Given the description of an element on the screen output the (x, y) to click on. 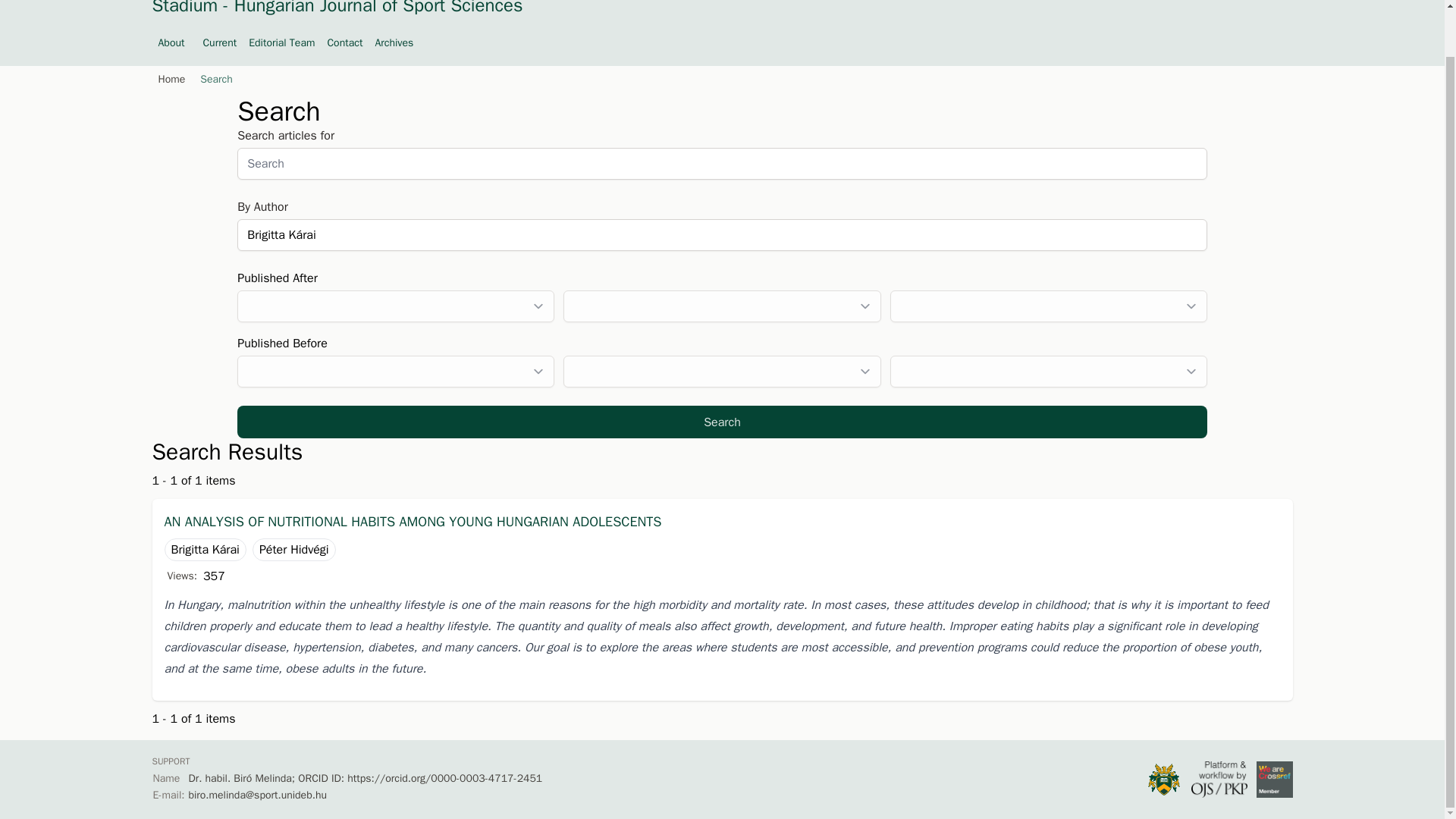
Home (167, 79)
Contact (344, 43)
Current (218, 43)
Archives (393, 43)
Stadium - Hungarian Journal of Sport Sciences (336, 8)
About (173, 43)
Editorial Team (281, 43)
